Given the description of an element on the screen output the (x, y) to click on. 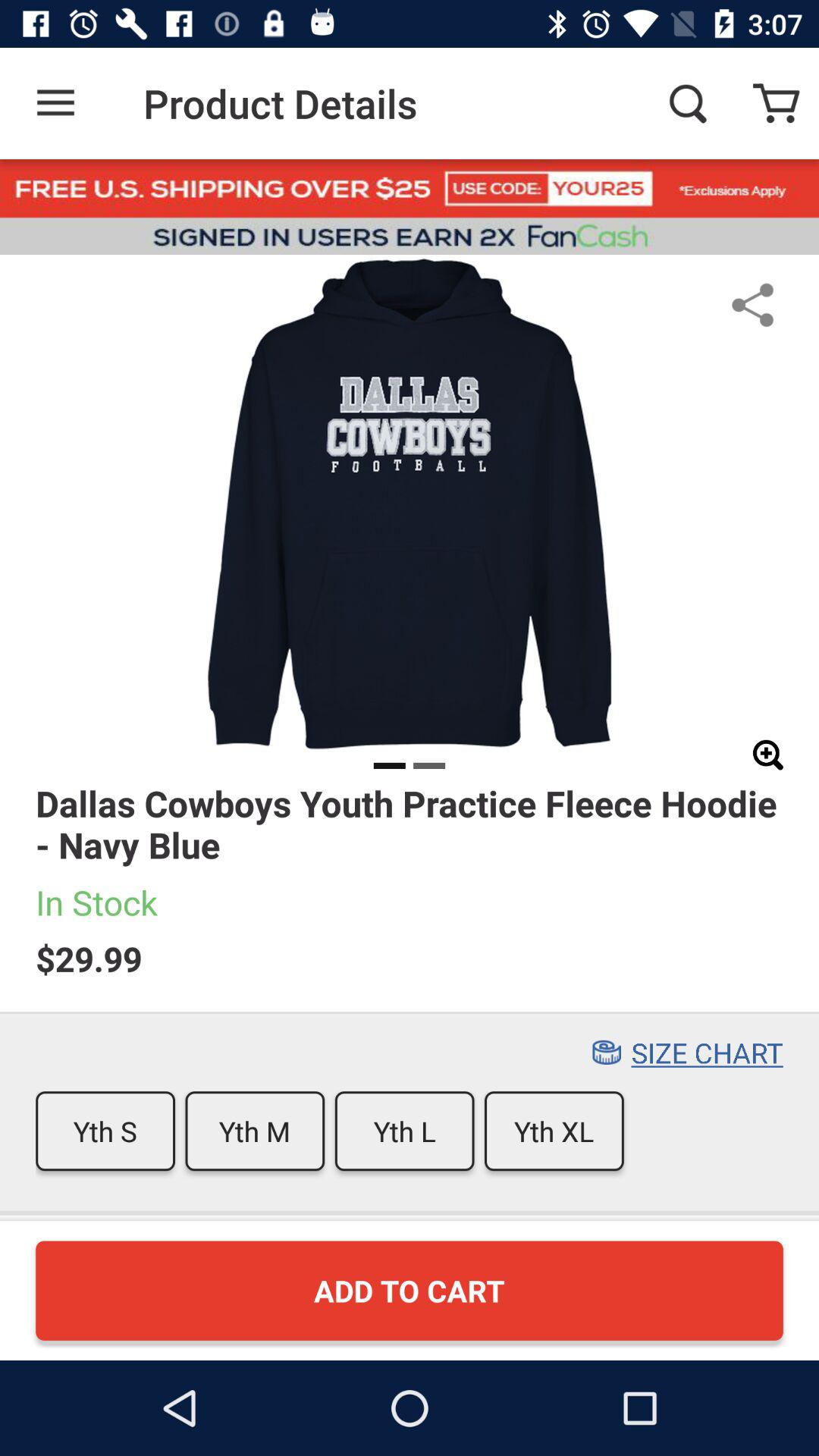
turn off size chart item (707, 1052)
